Given the description of an element on the screen output the (x, y) to click on. 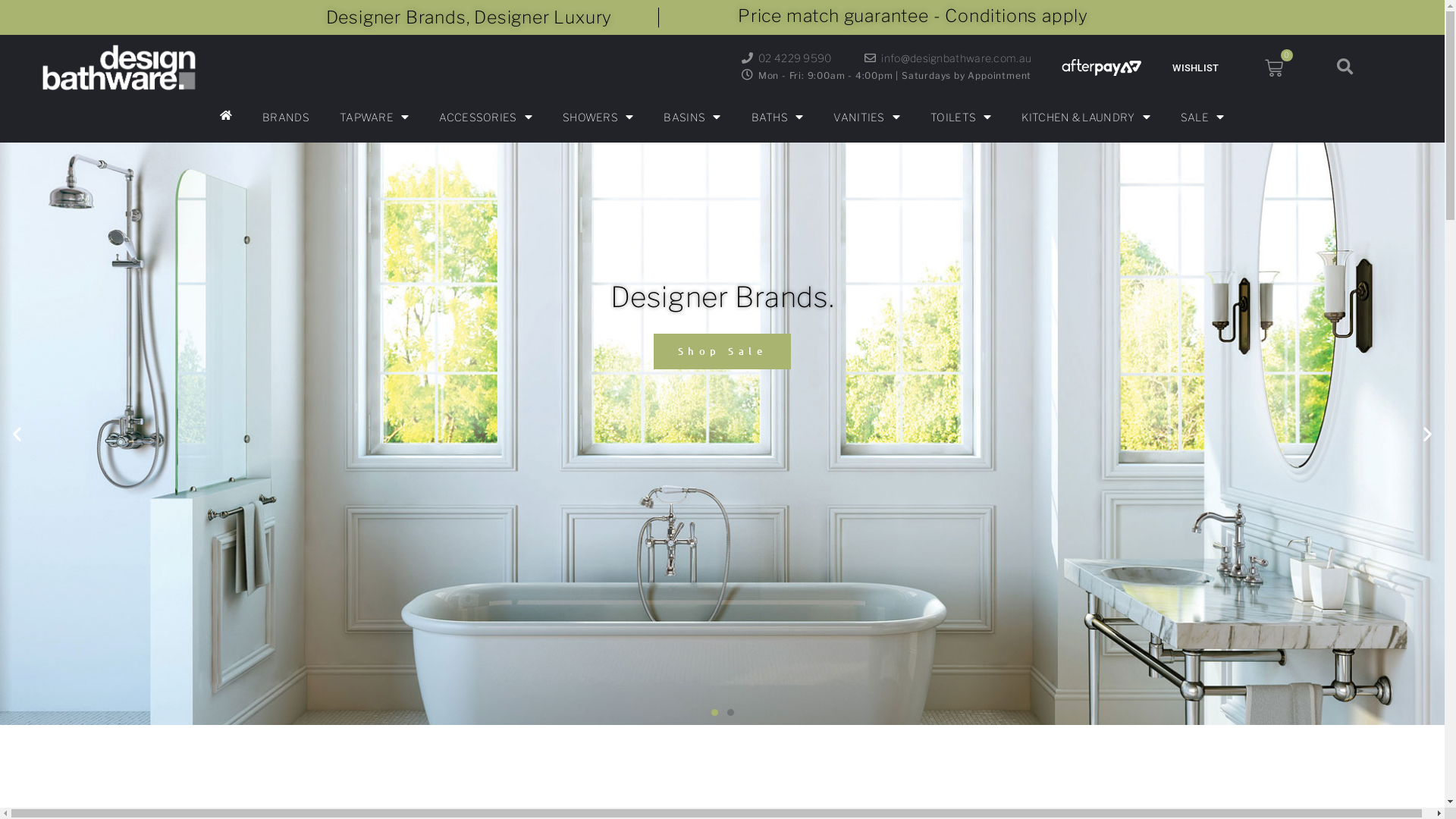
SHOWERS Element type: text (597, 117)
BATHS Element type: text (776, 117)
TOILETS Element type: text (960, 117)
info@designbathware.com.au Element type: text (947, 58)
ACCESSORIES Element type: text (485, 117)
BRANDS Element type: text (285, 117)
02 4229 9590 Element type: text (785, 58)
Price match guarantee - Conditions apply Element type: text (912, 16)
Designer Brands, Designer Luxury Element type: text (468, 17)
BASINS Element type: text (691, 117)
KITCHEN & LAUNDRY Element type: text (1085, 117)
TAPWARE Element type: text (373, 117)
Designer Brands.
Shop Sale Element type: text (722, 433)
VANITIES Element type: text (866, 117)
WISHLIST Element type: text (1195, 67)
SALE Element type: text (1202, 117)
